Given the description of an element on the screen output the (x, y) to click on. 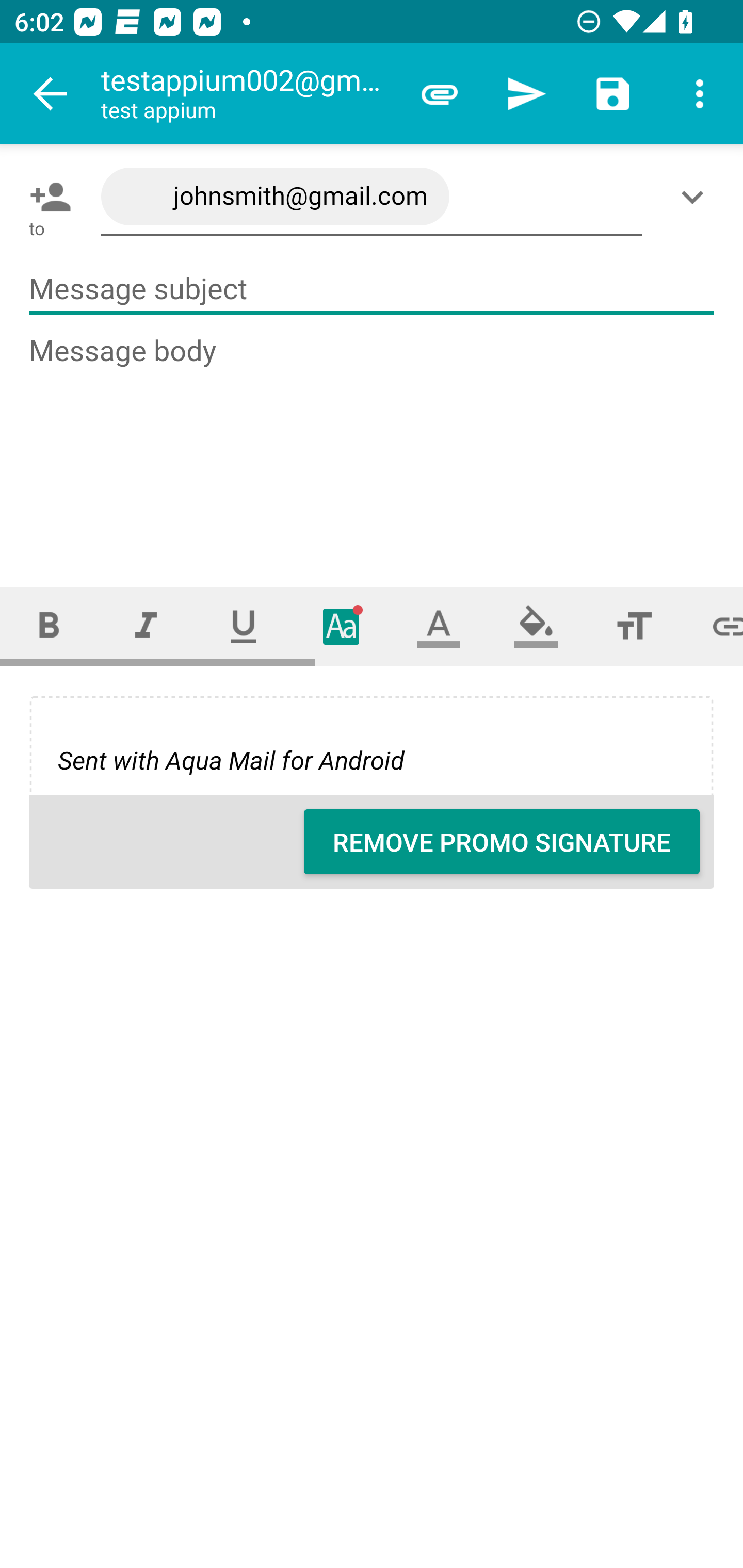
Navigate up (50, 93)
testappium002@gmail.com test appium (248, 93)
Attach (439, 93)
Send (525, 93)
Save (612, 93)
More options (699, 93)
johnsmith@gmail.com,  (371, 197)
Pick contact: To (46, 196)
Show/Add CC/BCC (696, 196)
Message subject (371, 288)
Message body (372, 442)
Bold (48, 626)
Italic (145, 626)
Underline (243, 626)
Typeface (font) (341, 626)
Text color (438, 626)
Fill color (536, 626)
Font size (633, 626)
REMOVE PROMO SIGNATURE (501, 841)
